Given the description of an element on the screen output the (x, y) to click on. 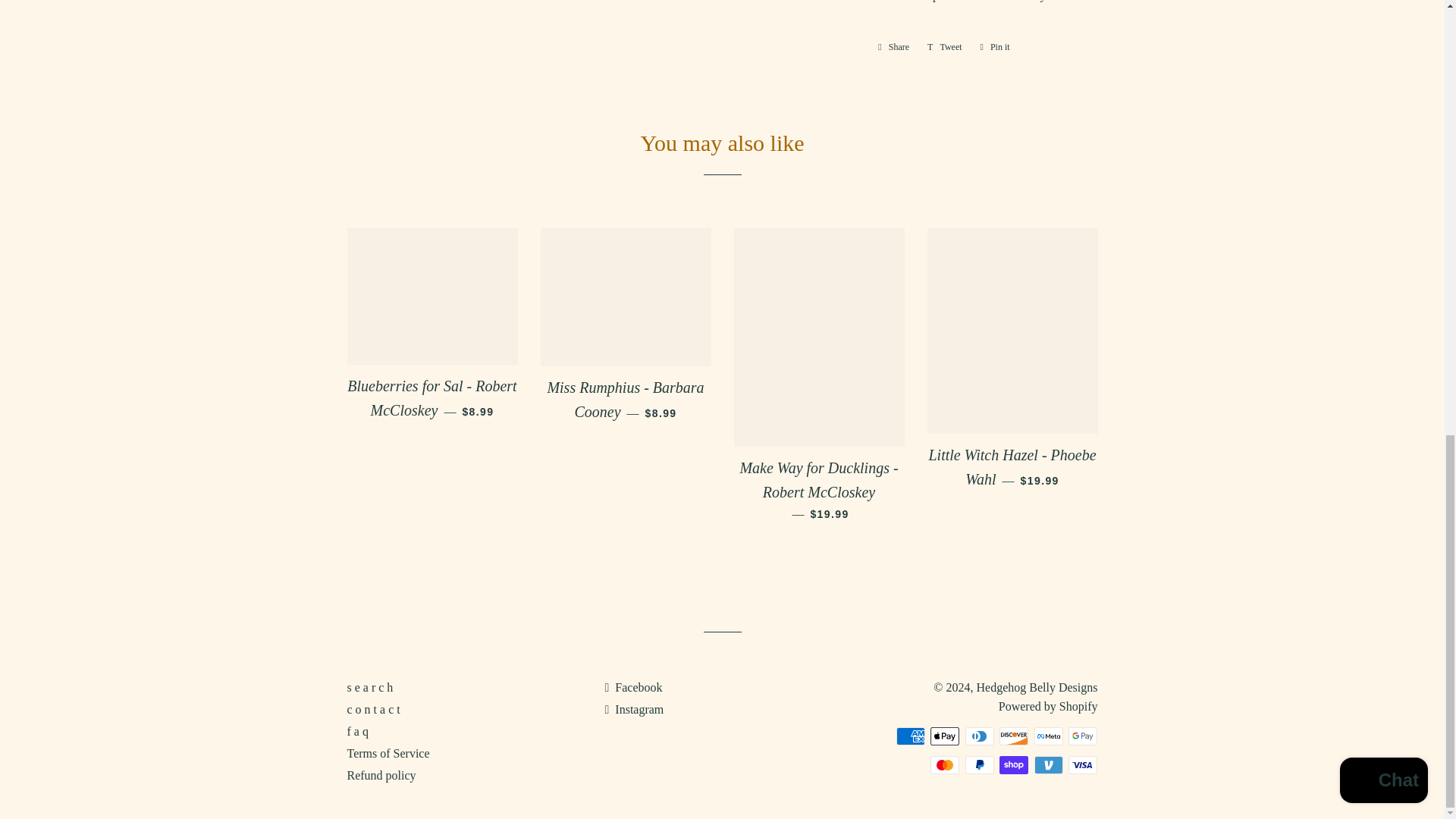
Hedgehog Belly Designs on Facebook (633, 686)
Google Pay (1082, 736)
Meta Pay (1047, 736)
Hedgehog Belly Designs on Instagram (633, 708)
Apple Pay (944, 736)
Diners Club (979, 736)
Tweet on Twitter (944, 46)
Visa (1082, 764)
Shop Pay (1012, 764)
American Express (910, 736)
